Given the description of an element on the screen output the (x, y) to click on. 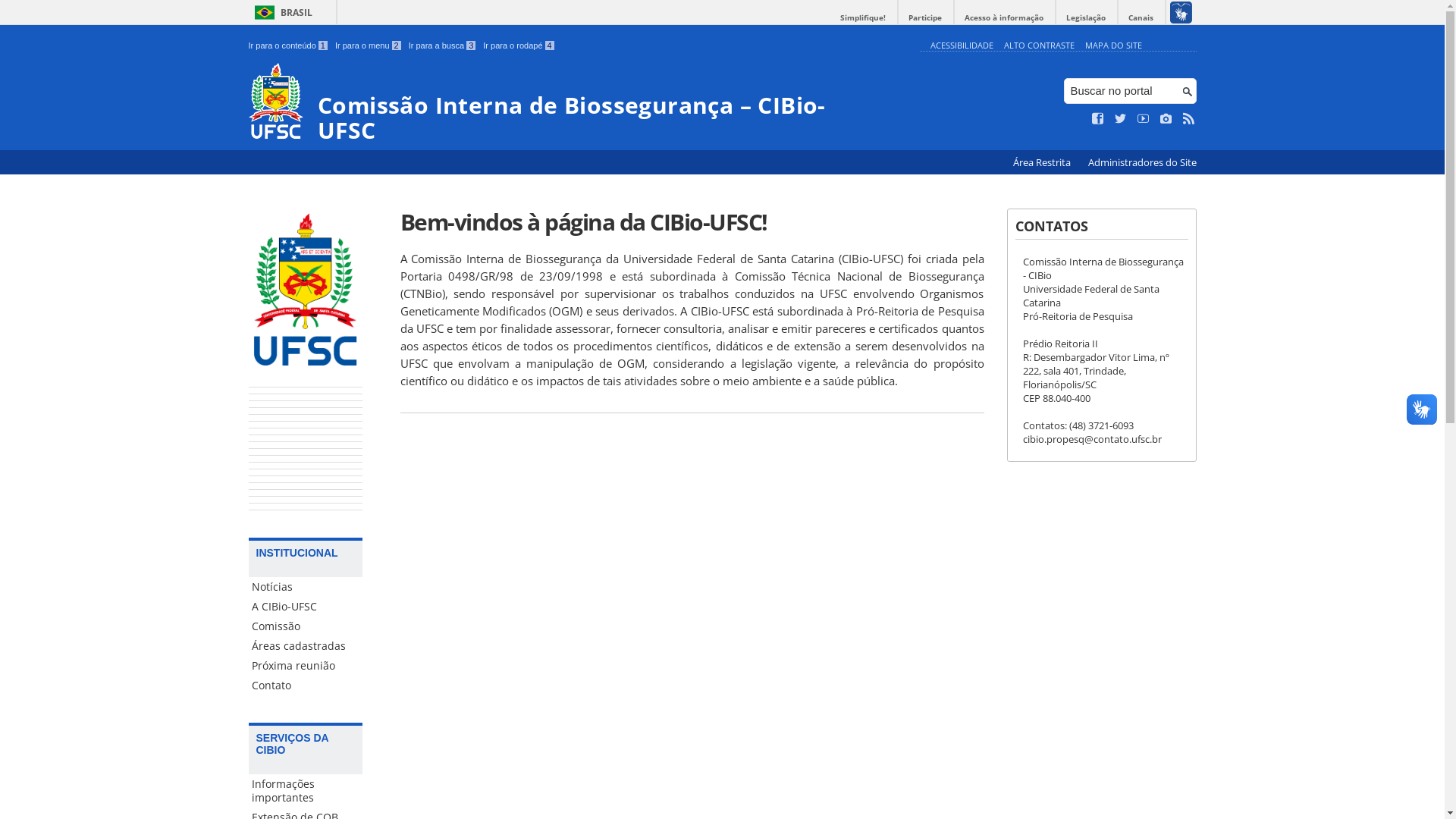
Siga no Twitter Element type: hover (1120, 118)
A CIBio-UFSC Element type: text (305, 606)
Veja no Instagram Element type: hover (1166, 118)
Simplifique! Element type: text (862, 18)
Contato Element type: text (305, 685)
BRASIL Element type: text (280, 12)
ACESSIBILIDADE Element type: text (960, 44)
Ir para a busca 3 Element type: text (442, 45)
Curta no Facebook Element type: hover (1098, 118)
ALTO CONTRASTE Element type: text (1039, 44)
Ir para o menu 2 Element type: text (368, 45)
Participe Element type: text (924, 18)
Administradores do Site Element type: text (1141, 162)
MAPA DO SITE Element type: text (1112, 44)
Canais Element type: text (1140, 18)
